Given the description of an element on the screen output the (x, y) to click on. 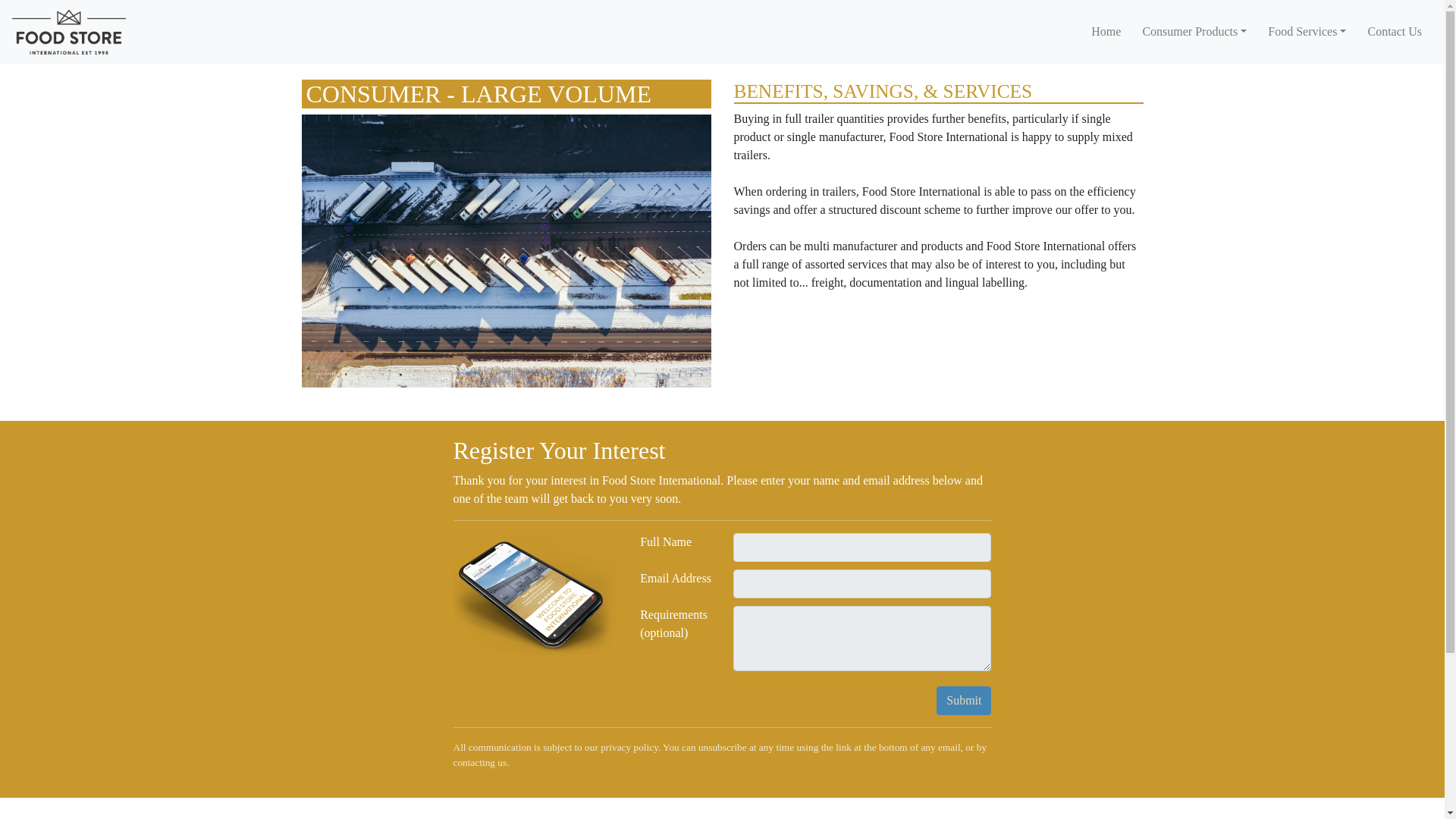
Contact Us (1394, 31)
Submit (963, 700)
Home (1105, 31)
Submit (963, 700)
Food Services (1307, 31)
Consumer Products (1193, 31)
